Given the description of an element on the screen output the (x, y) to click on. 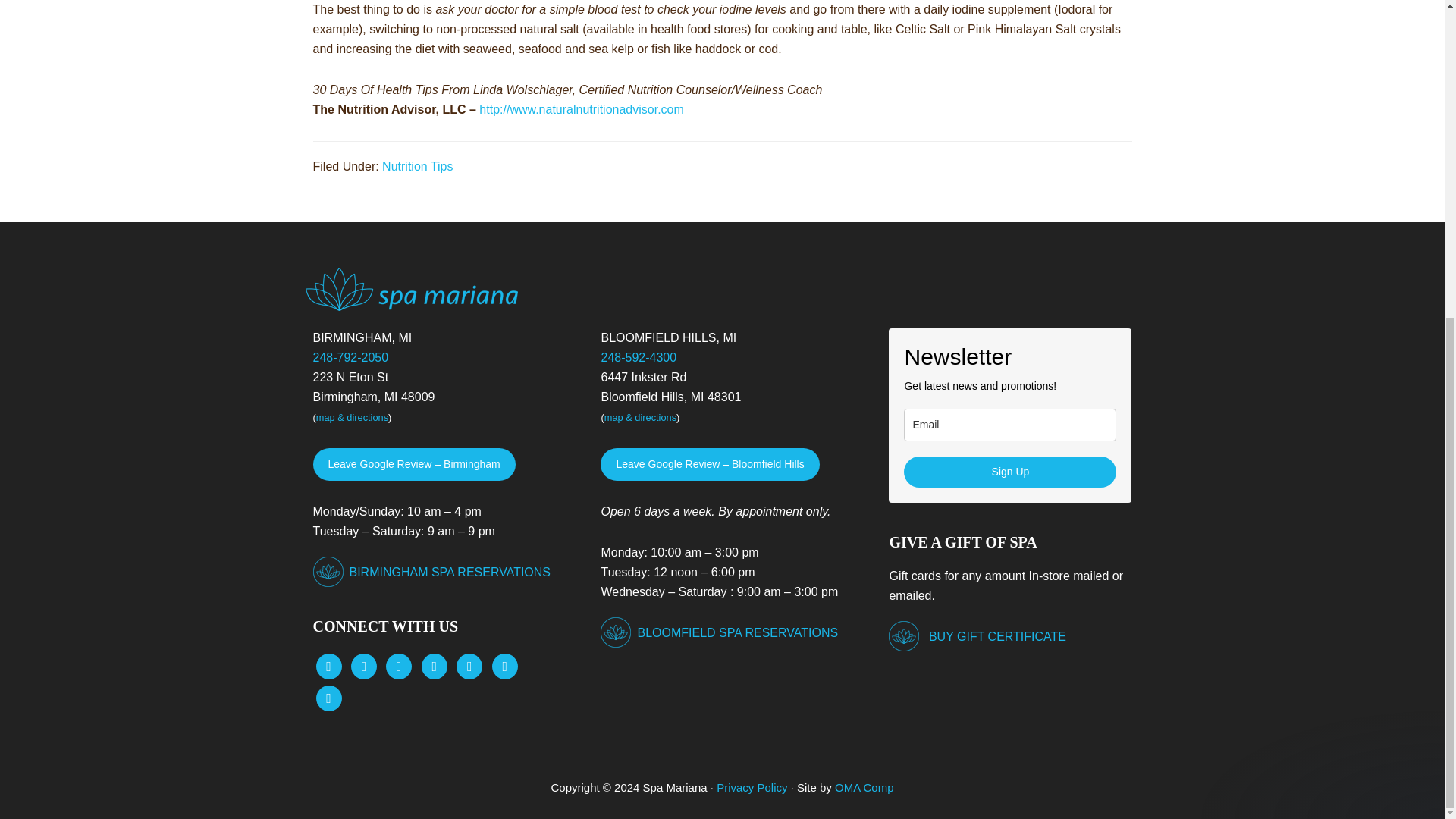
Facebook (327, 665)
Instagram (398, 665)
Twitter (363, 665)
Default Label (434, 665)
Default Label (505, 665)
The Nutrition Advisor (580, 109)
Default Label (469, 665)
